Given the description of an element on the screen output the (x, y) to click on. 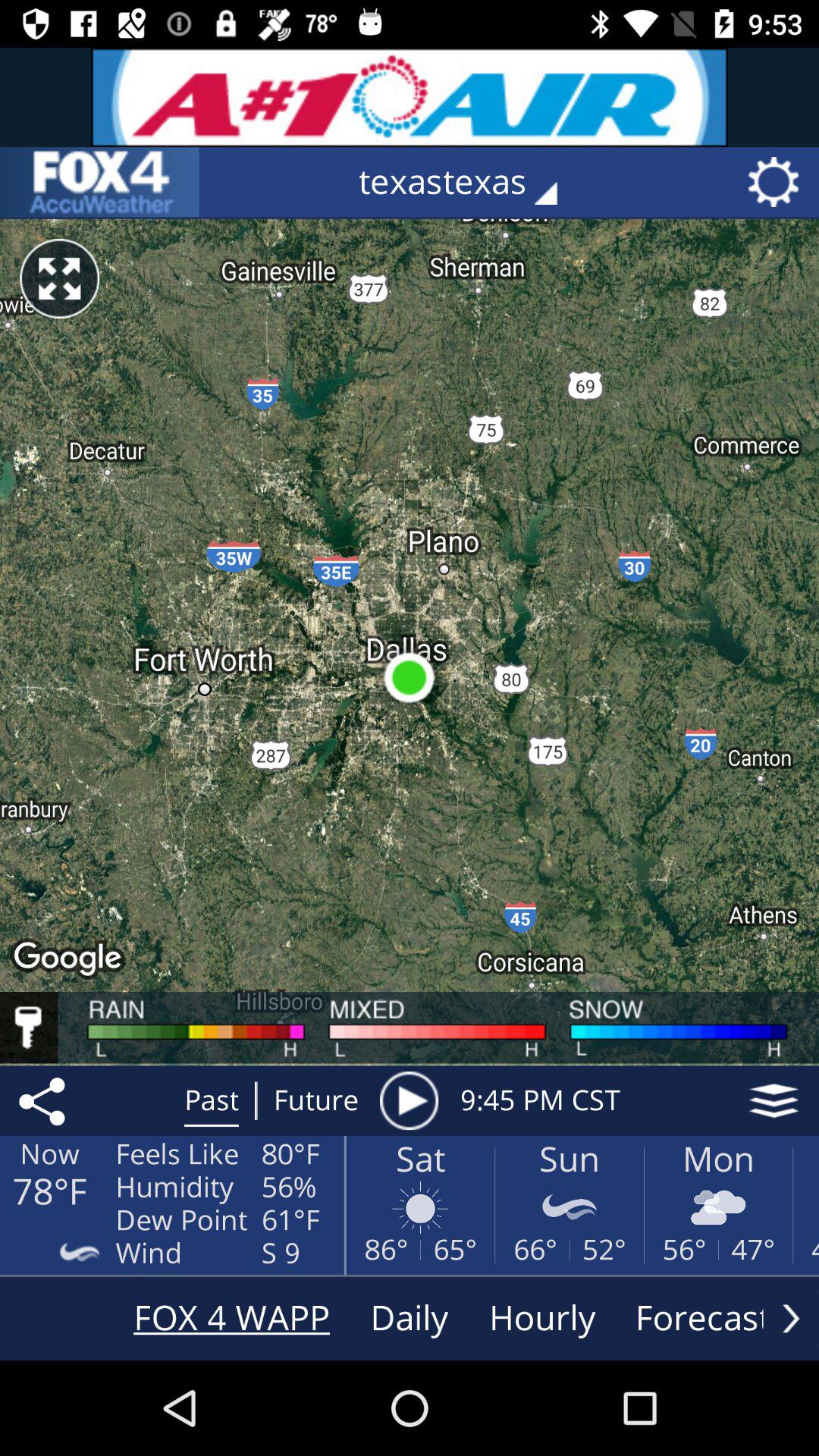
lock weather location map (29, 1027)
